Given the description of an element on the screen output the (x, y) to click on. 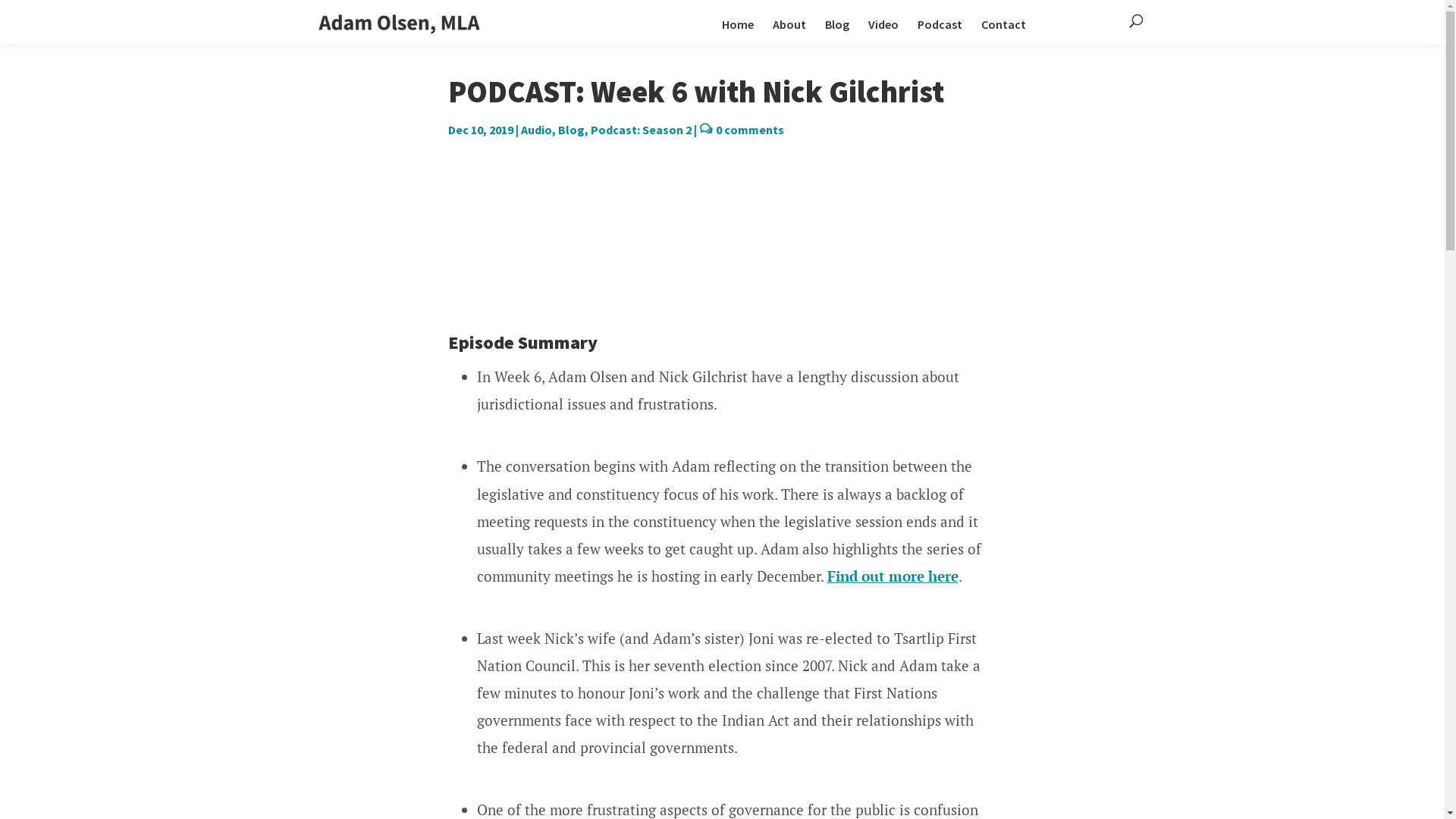
Video Element type: text (882, 30)
About Element type: text (788, 30)
Blog Element type: text (837, 30)
Find out more here Element type: text (891, 575)
Podcast Element type: text (939, 30)
Podcast: Season 2 Element type: text (639, 129)
Blog Element type: text (571, 129)
Audio Element type: text (535, 129)
Contact Element type: text (1003, 30)
0 comments Element type: text (749, 129)
Home Element type: text (737, 30)
